Given the description of an element on the screen output the (x, y) to click on. 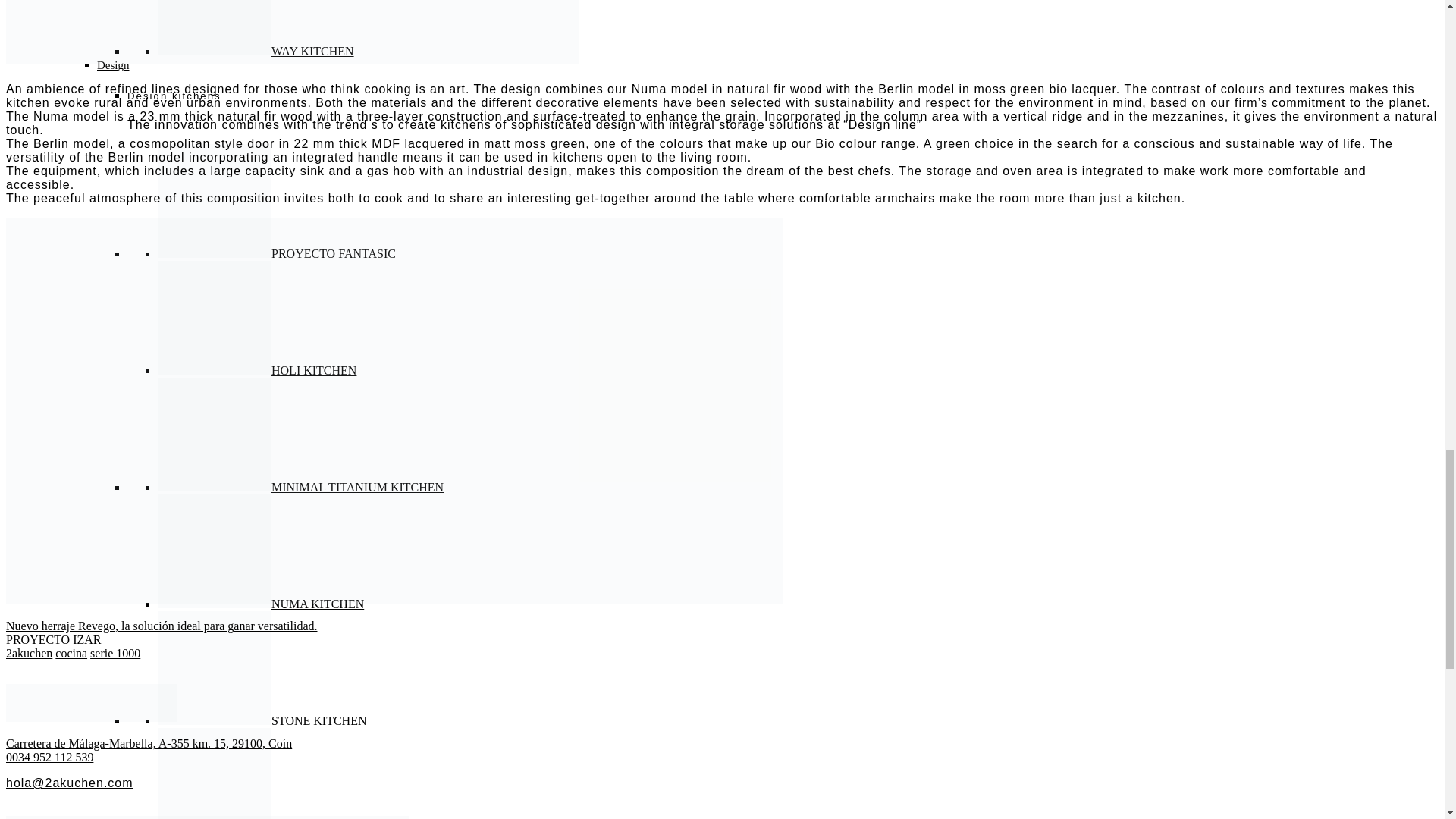
NUMA KITCHEN (260, 603)
MINIMAL TITANIUM KITCHEN (300, 486)
STONE KITCHEN (261, 720)
WAY KITCHEN (255, 51)
Design (113, 64)
HOLI KITCHEN (256, 369)
PROYECTO FANTASIC (276, 253)
